Given the description of an element on the screen output the (x, y) to click on. 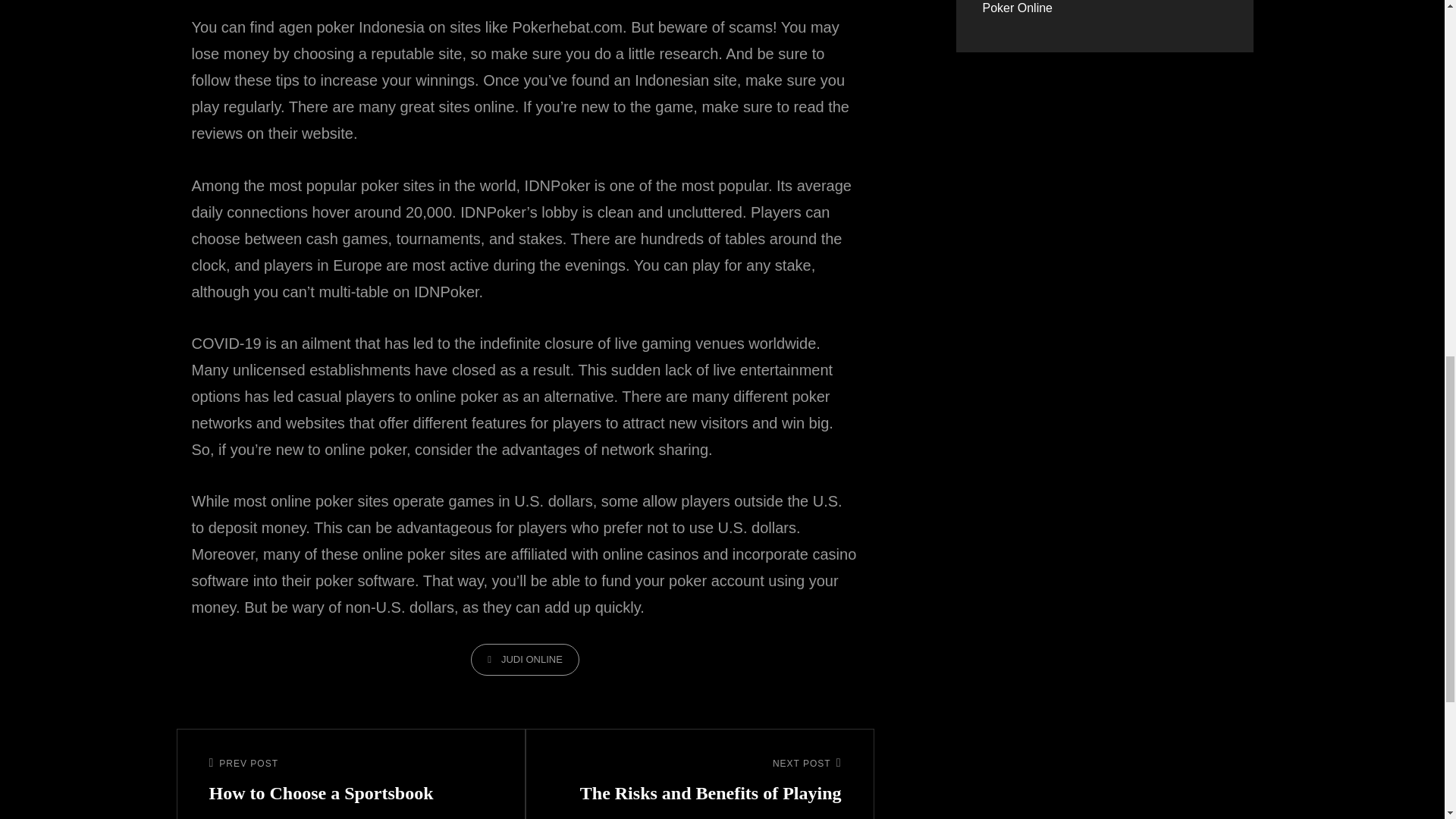
Poker Online (1017, 7)
JUDI ONLINE (351, 782)
